Given the description of an element on the screen output the (x, y) to click on. 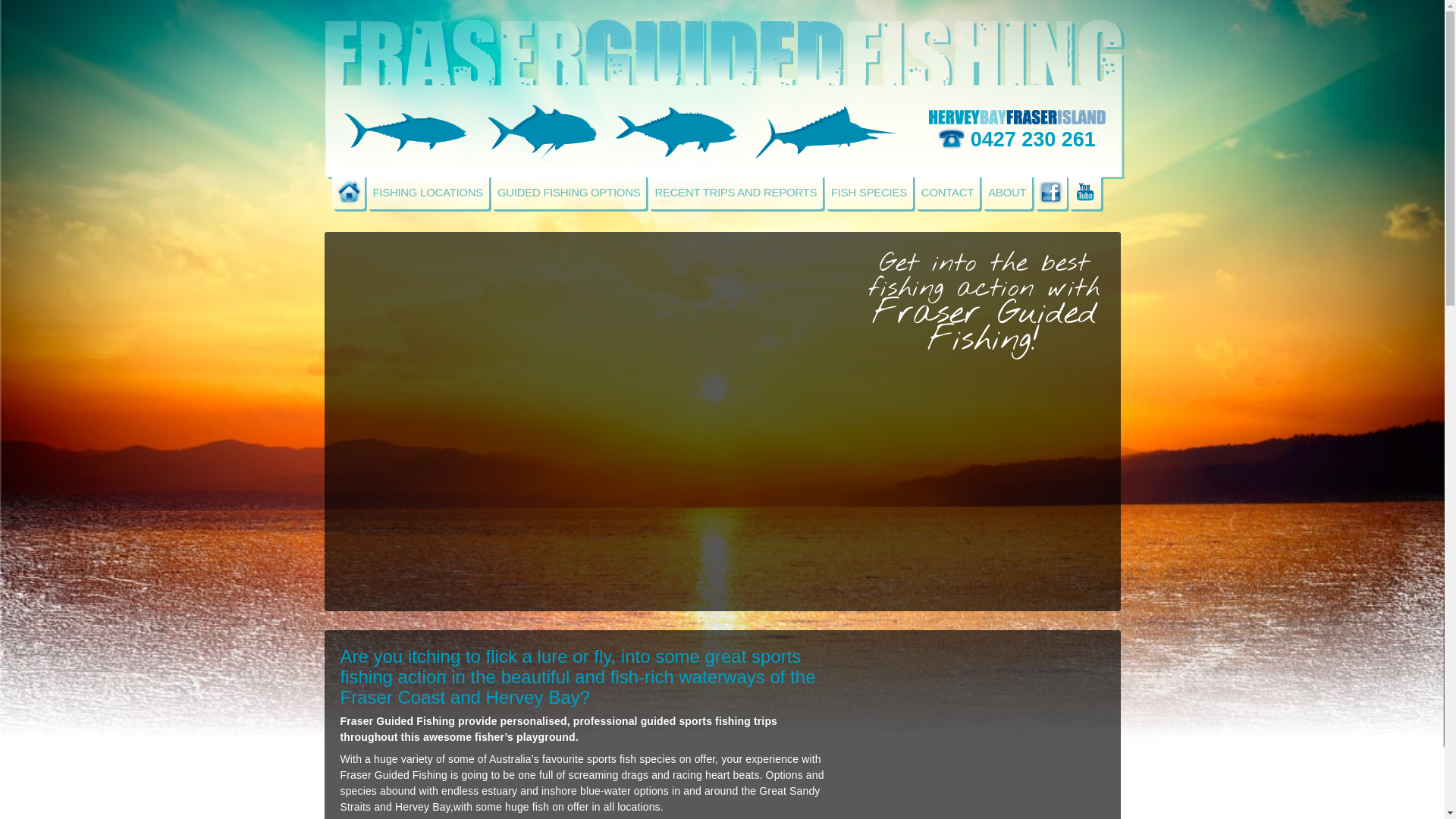
CONTACT Element type: text (947, 192)
GUIDED FISHING OPTIONS Element type: text (568, 192)
Fraser Guided Fishing Youtube Channel Element type: hover (1084, 192)
Fraser Guided Fishing Facebook Page Element type: hover (1050, 192)
FISH SPECIES Element type: text (869, 192)
Fraser Guided Fishing - Home Element type: hover (348, 192)
Phone  - Fraser Island Hervey Bay Element type: hover (1016, 117)
FISHING LOCATIONS Element type: text (428, 192)
RECENT TRIPS AND REPORTS Element type: text (735, 192)
ABOUT Element type: text (1007, 192)
Phone  Element type: hover (951, 138)
